Given the description of an element on the screen output the (x, y) to click on. 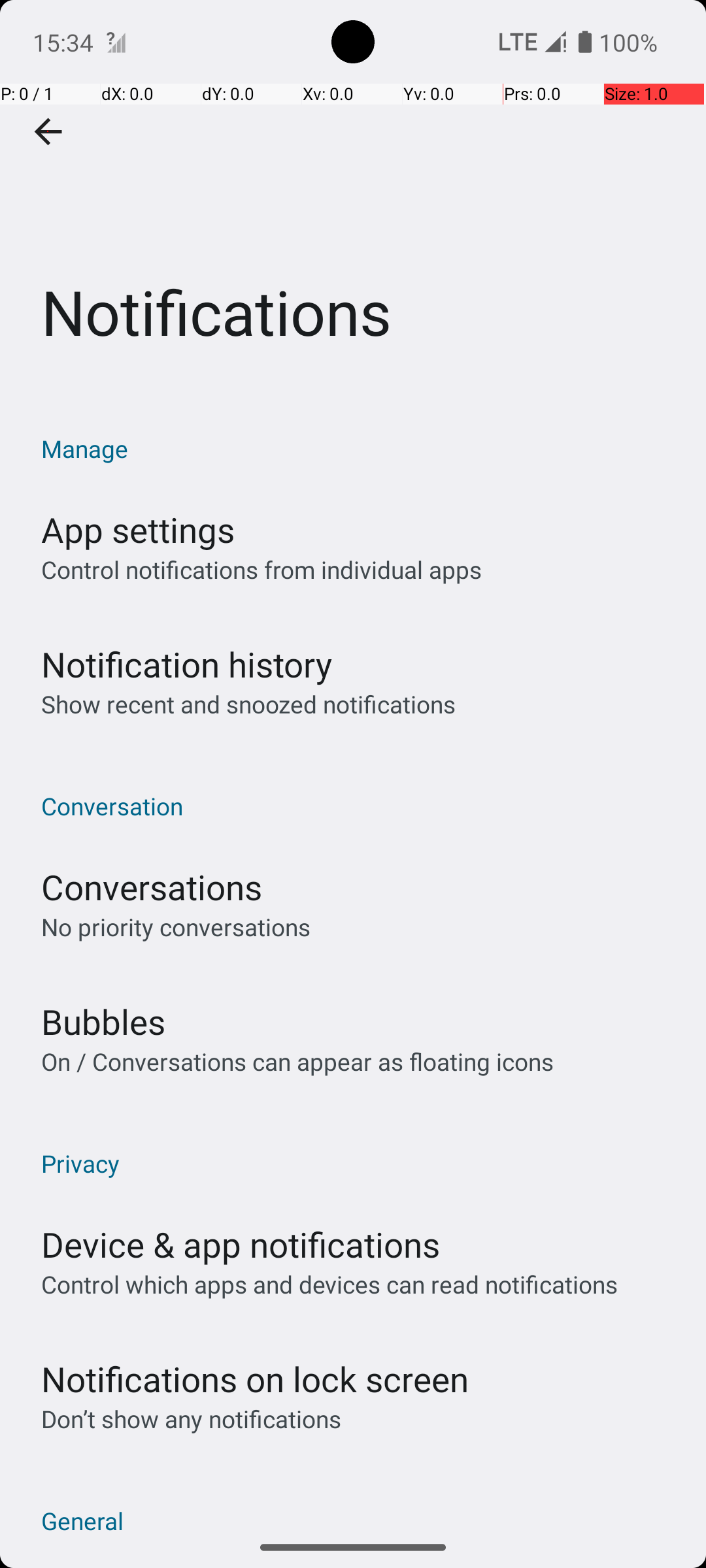
Don’t show any notifications Element type: android.widget.TextView (191, 1418)
